Given the description of an element on the screen output the (x, y) to click on. 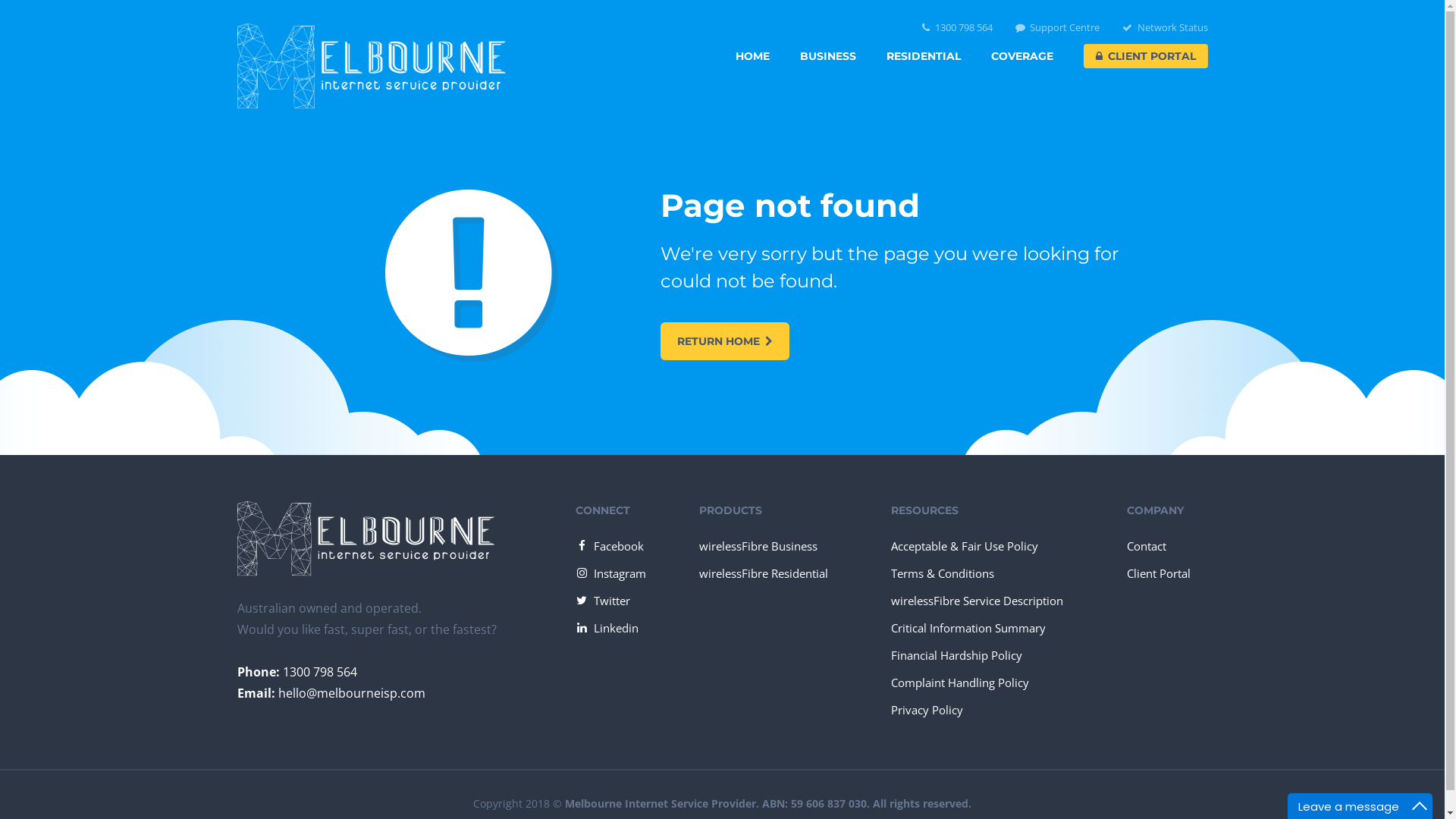
Acceptable & Fair Use Policy Element type: text (964, 545)
BUSINESS Element type: text (827, 55)
HOME Element type: text (752, 55)
Twitter Element type: text (602, 600)
RETURN HOME Element type: text (724, 341)
Privacy Policy Element type: text (926, 709)
wirelessFibre Residential Element type: text (763, 572)
Financial Hardship Policy Element type: text (956, 654)
CLIENT PORTAL Element type: text (1144, 55)
COVERAGE Element type: text (1021, 55)
Maximize Element type: hover (1419, 806)
Facebook Element type: text (609, 545)
wirelessFibre Service Description Element type: text (976, 600)
Support Centre Element type: text (1056, 27)
Instagram Element type: text (610, 572)
Terms & Conditions Element type: text (942, 572)
Phone: 1300 798 564 Element type: text (296, 671)
Network Status Element type: text (1165, 27)
Email: hello@melbourneisp.com Element type: text (330, 692)
Critical Information Summary Element type: text (968, 627)
wirelessFibre Business Element type: text (758, 545)
Client Portal Element type: text (1158, 572)
Complaint Handling Policy Element type: text (959, 682)
Contact Element type: text (1146, 545)
RESIDENTIAL Element type: text (922, 55)
1300 798 564 Element type: text (957, 27)
Linkedin Element type: text (606, 627)
